Given the description of an element on the screen output the (x, y) to click on. 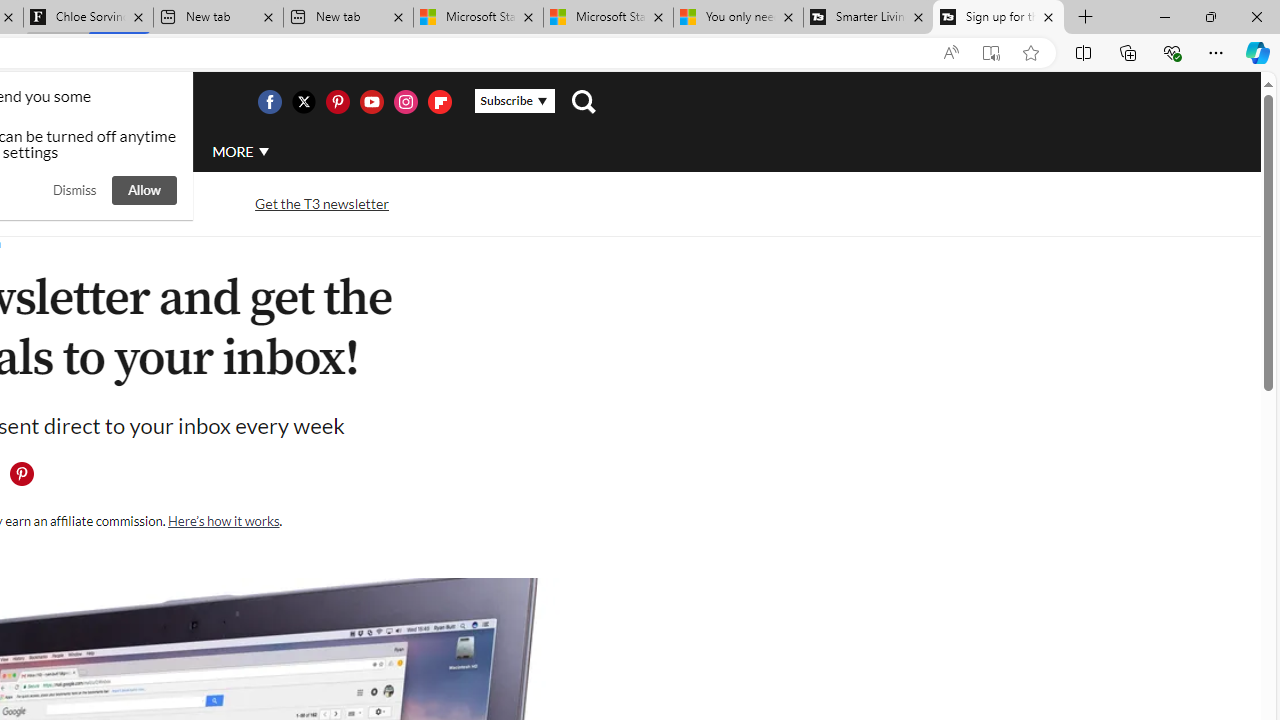
Visit us on Pintrest (337, 101)
Class: svg-arrow-down (264, 151)
Visit us on Facebook (269, 101)
Class: icon-svg (21, 474)
Streaming TV and movies (105, 204)
Microsoft Start Sports (477, 17)
Share this page on Pintrest (21, 474)
Class: social__item (25, 477)
